Given the description of an element on the screen output the (x, y) to click on. 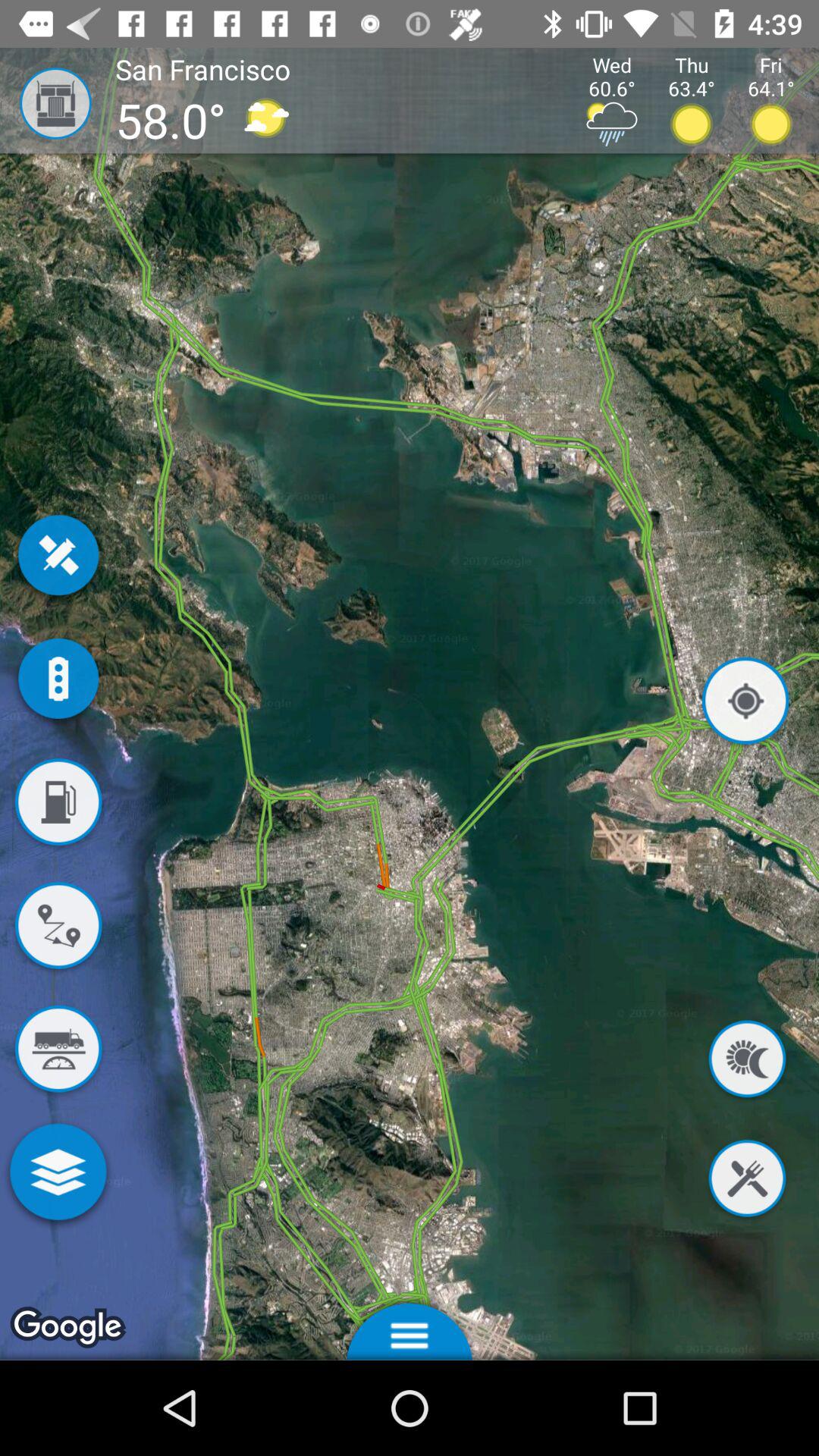
food near me option (747, 1181)
